Given the description of an element on the screen output the (x, y) to click on. 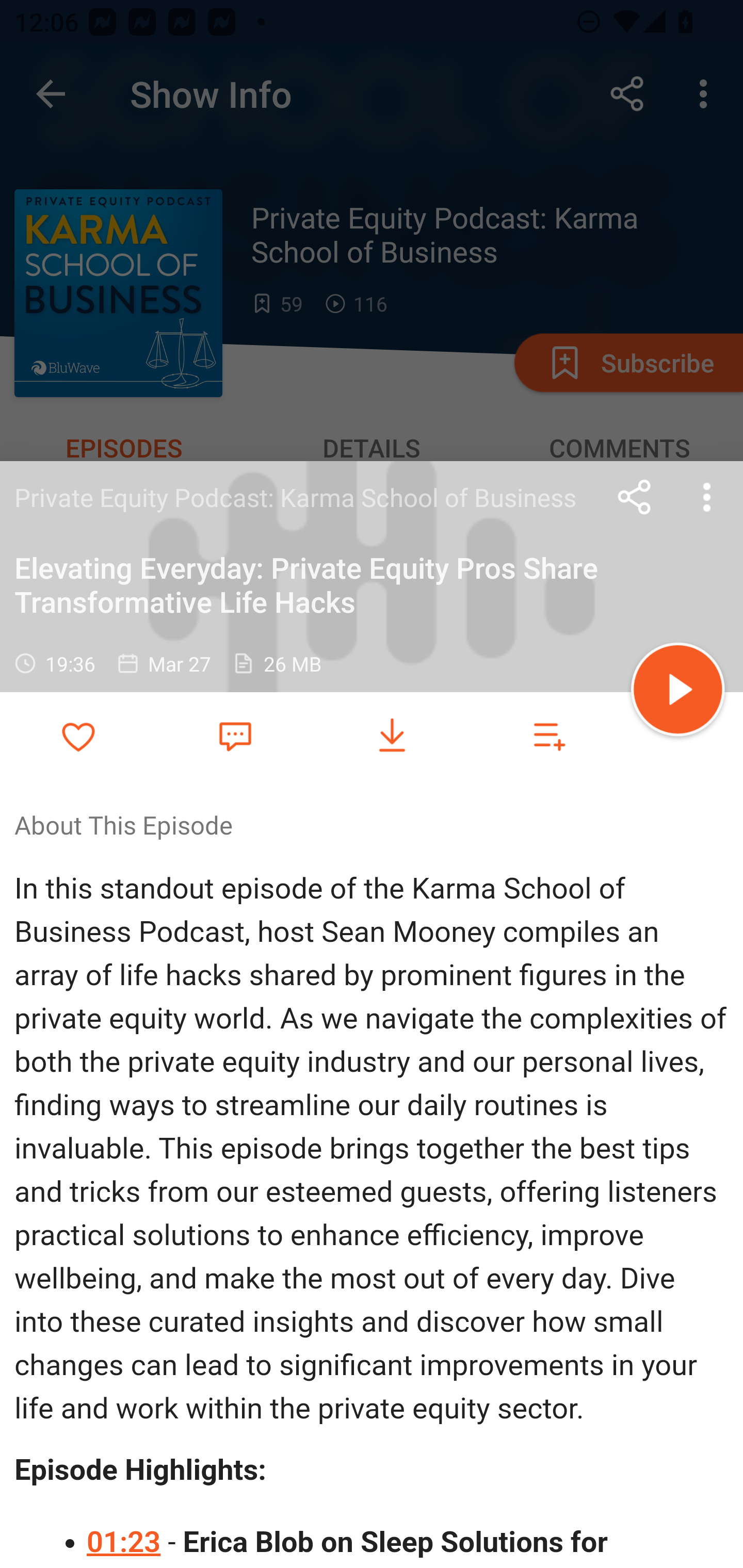
Share (634, 496)
more options (706, 496)
Play (677, 692)
Favorite (234, 735)
Add to Favorites (78, 735)
Download (391, 735)
Add to playlist (548, 735)
01:23 (124, 1542)
